Given the description of an element on the screen output the (x, y) to click on. 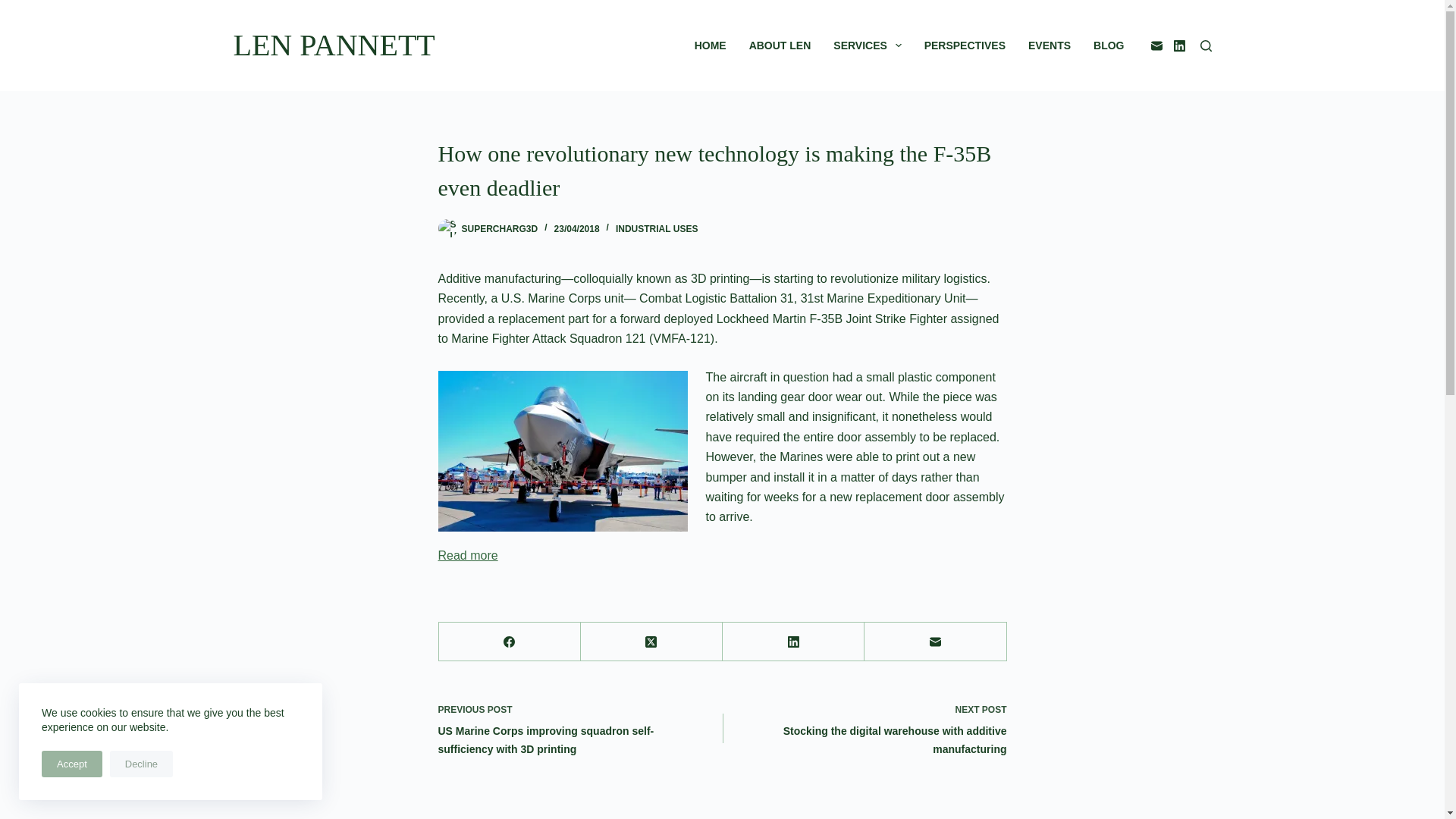
LEN PANNETT (333, 44)
HOME (710, 45)
Decline (141, 764)
Accept (71, 764)
Skip to content (15, 7)
Posts by Supercharg3d (499, 228)
ABOUT LEN (780, 45)
SERVICES (867, 45)
BLOG (1108, 45)
EVENTS (1048, 45)
PERSPECTIVES (964, 45)
